Given the description of an element on the screen output the (x, y) to click on. 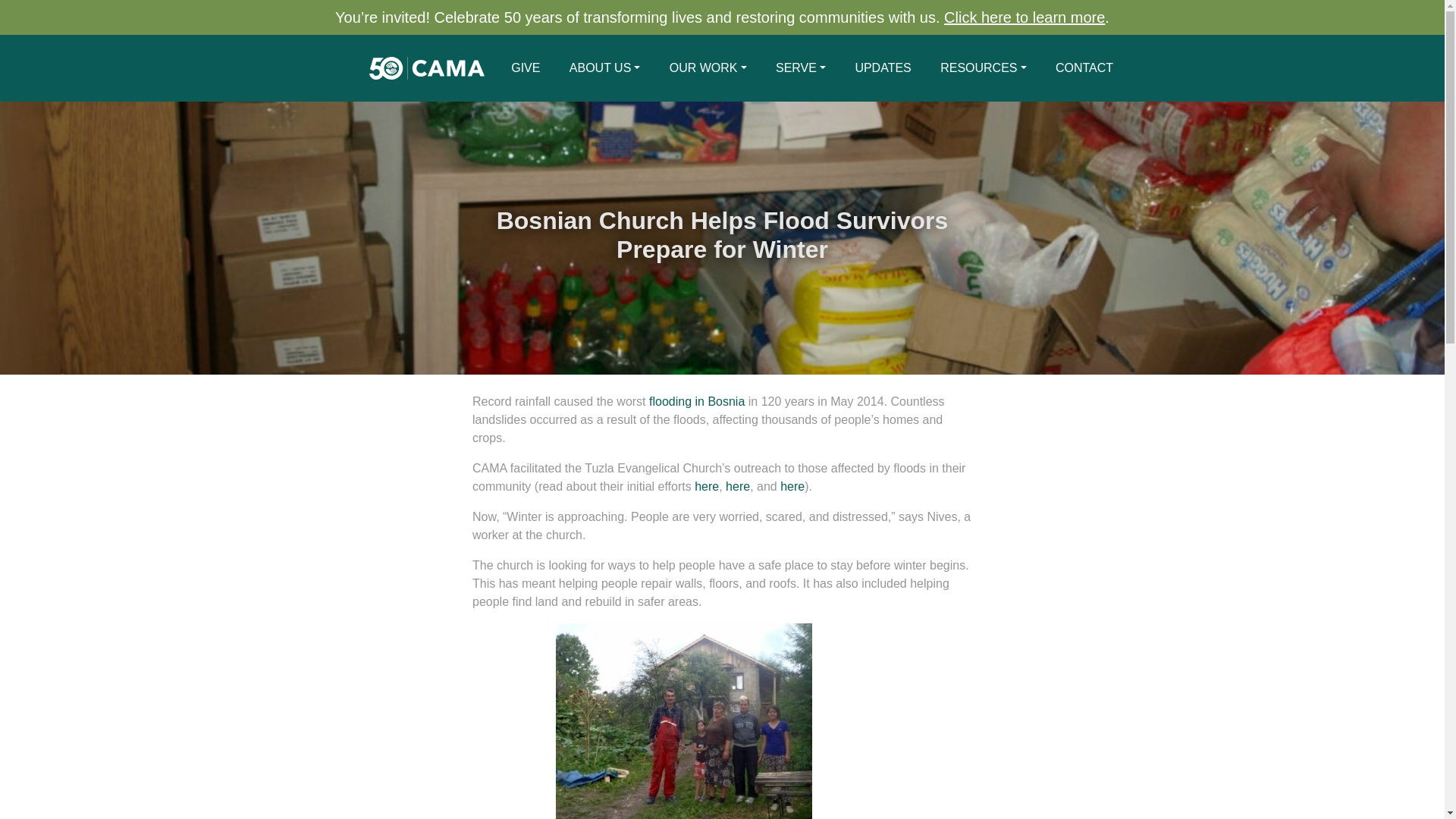
here (737, 486)
UPDATES (883, 68)
Bosnian Churches Continue Reaching Out (792, 486)
GIVE (525, 68)
OUR WORK (708, 68)
here (706, 486)
flooding in Bosnia (696, 400)
ABOUT US (604, 68)
CONTACT (1084, 68)
SERVE (800, 68)
